Given the description of an element on the screen output the (x, y) to click on. 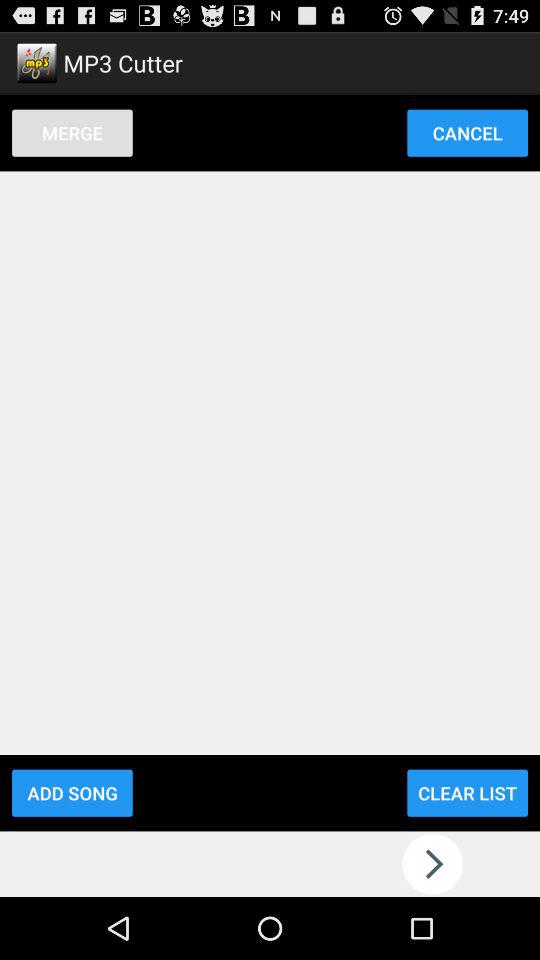
launch the button next to the clear list item (72, 792)
